Given the description of an element on the screen output the (x, y) to click on. 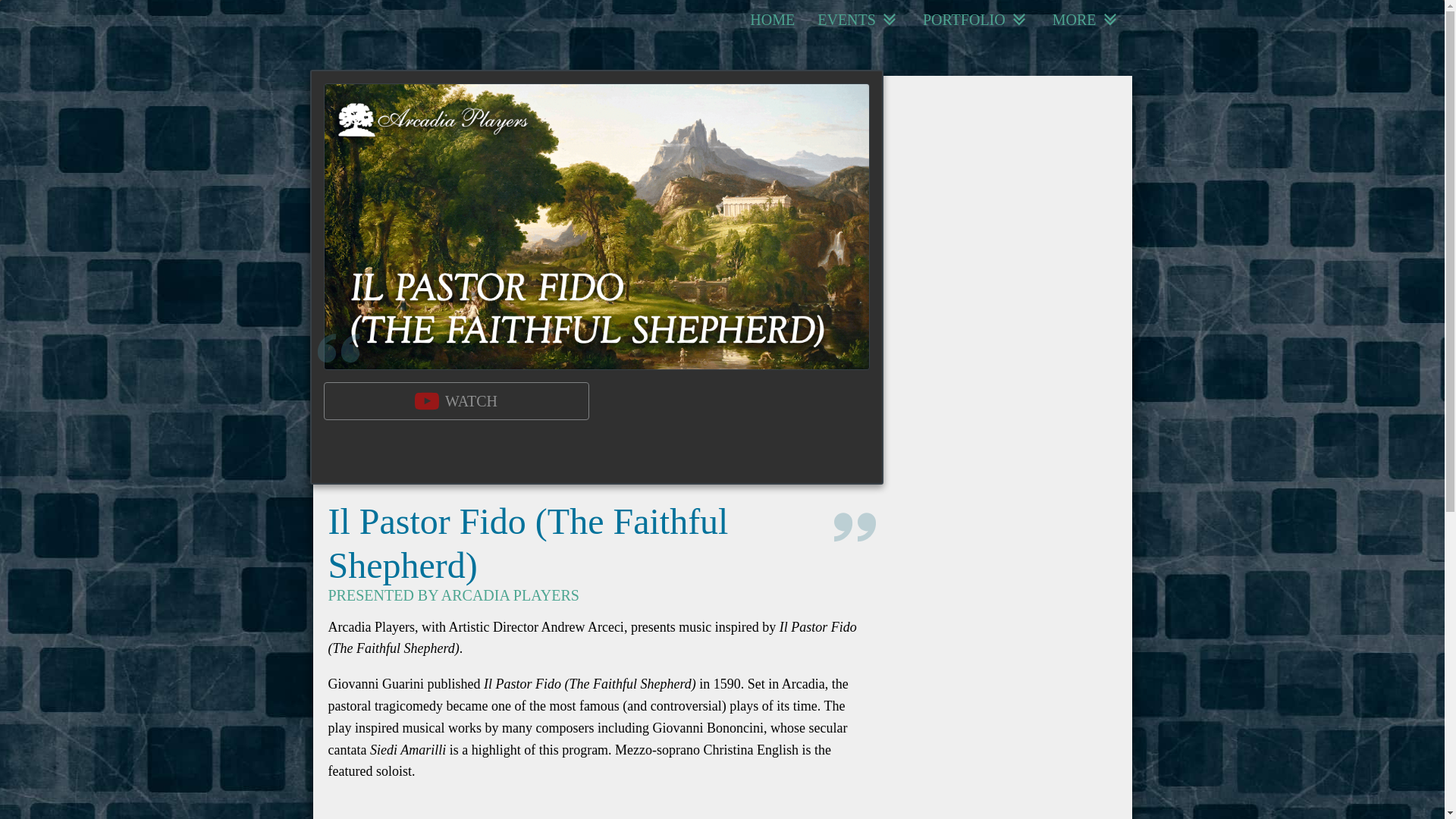
PORTFOLIO (976, 19)
HOME (772, 19)
WATCH (455, 401)
MORE (1086, 19)
EVENTS (858, 19)
